Given the description of an element on the screen output the (x, y) to click on. 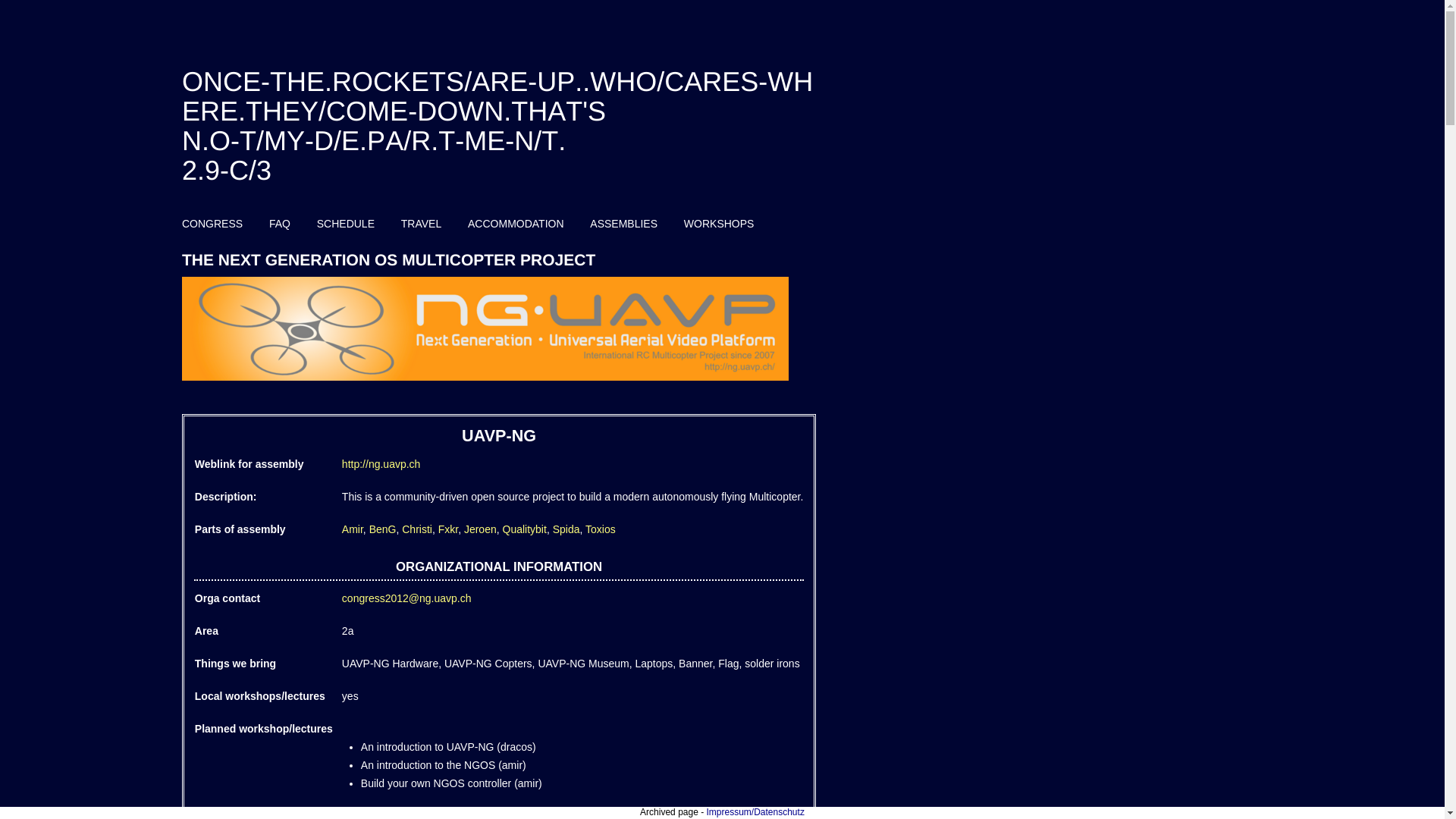
ASSEMBLIES (623, 223)
Toxios (600, 529)
FAQ (279, 223)
CONGRESS (212, 223)
Amir (352, 529)
Travel (421, 223)
Schedule (345, 223)
User:BenG (382, 529)
Spida (566, 529)
Jeroen (480, 529)
Fxkr (448, 529)
TRAVEL (421, 223)
WORKSHOPS (719, 223)
User:Jeroen (480, 529)
Workshops (719, 223)
